Given the description of an element on the screen output the (x, y) to click on. 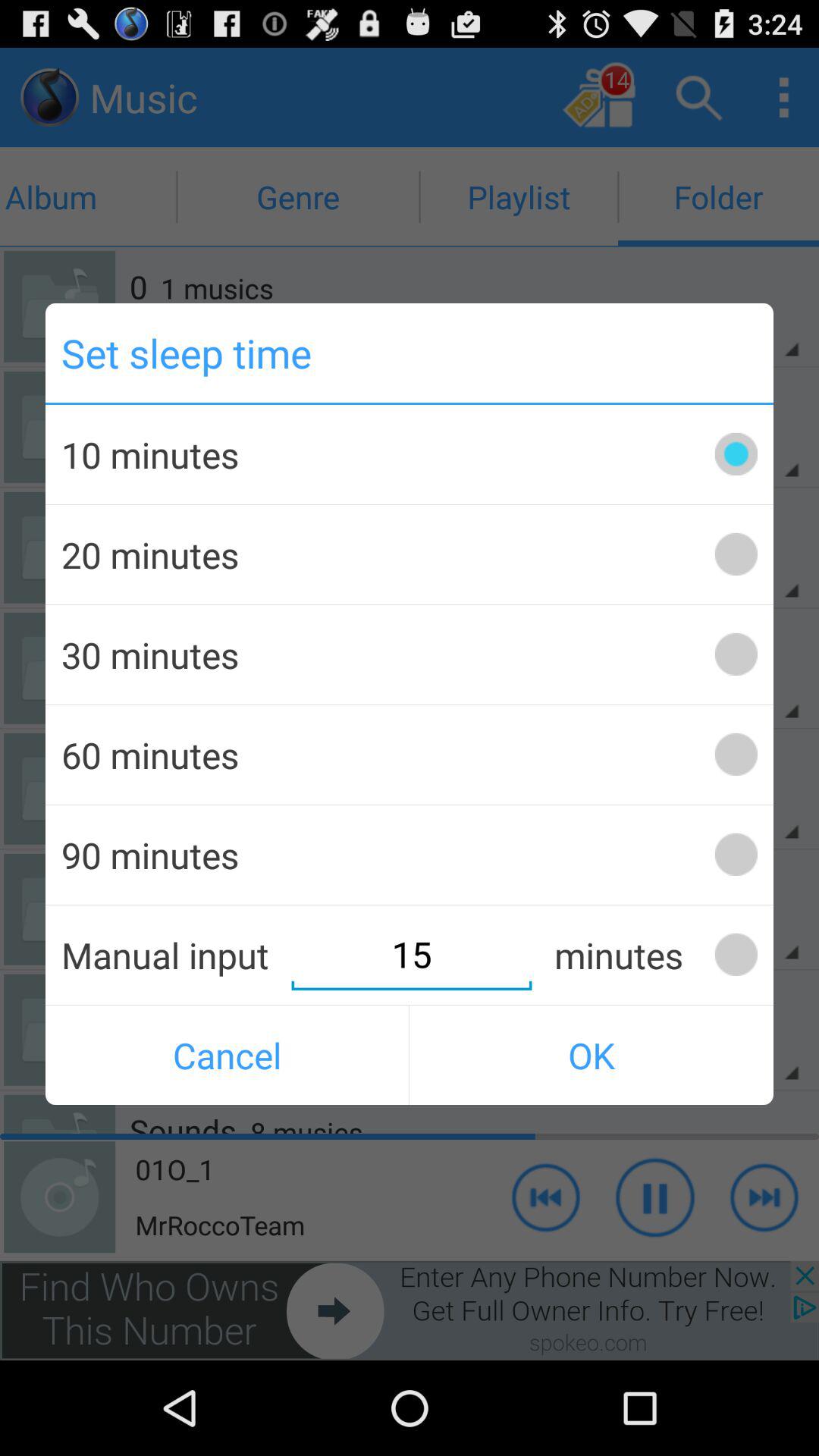
toggle 20 minutes (735, 554)
